Given the description of an element on the screen output the (x, y) to click on. 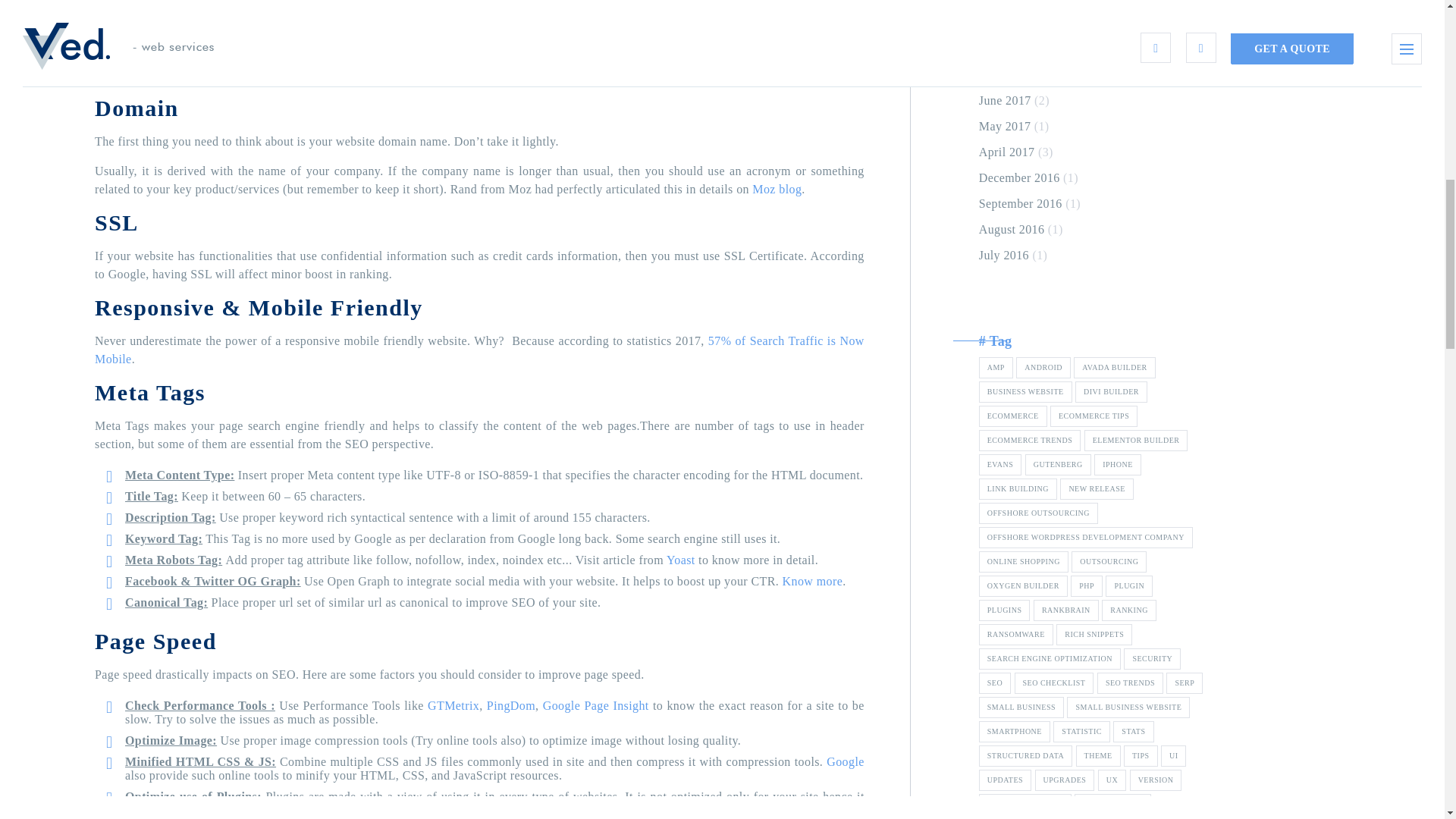
Know more (813, 581)
PingDom (510, 705)
Google (845, 761)
GTMetrix (453, 705)
Yoast (680, 559)
Google Page Insight (596, 705)
Moz blog (777, 188)
